Given the description of an element on the screen output the (x, y) to click on. 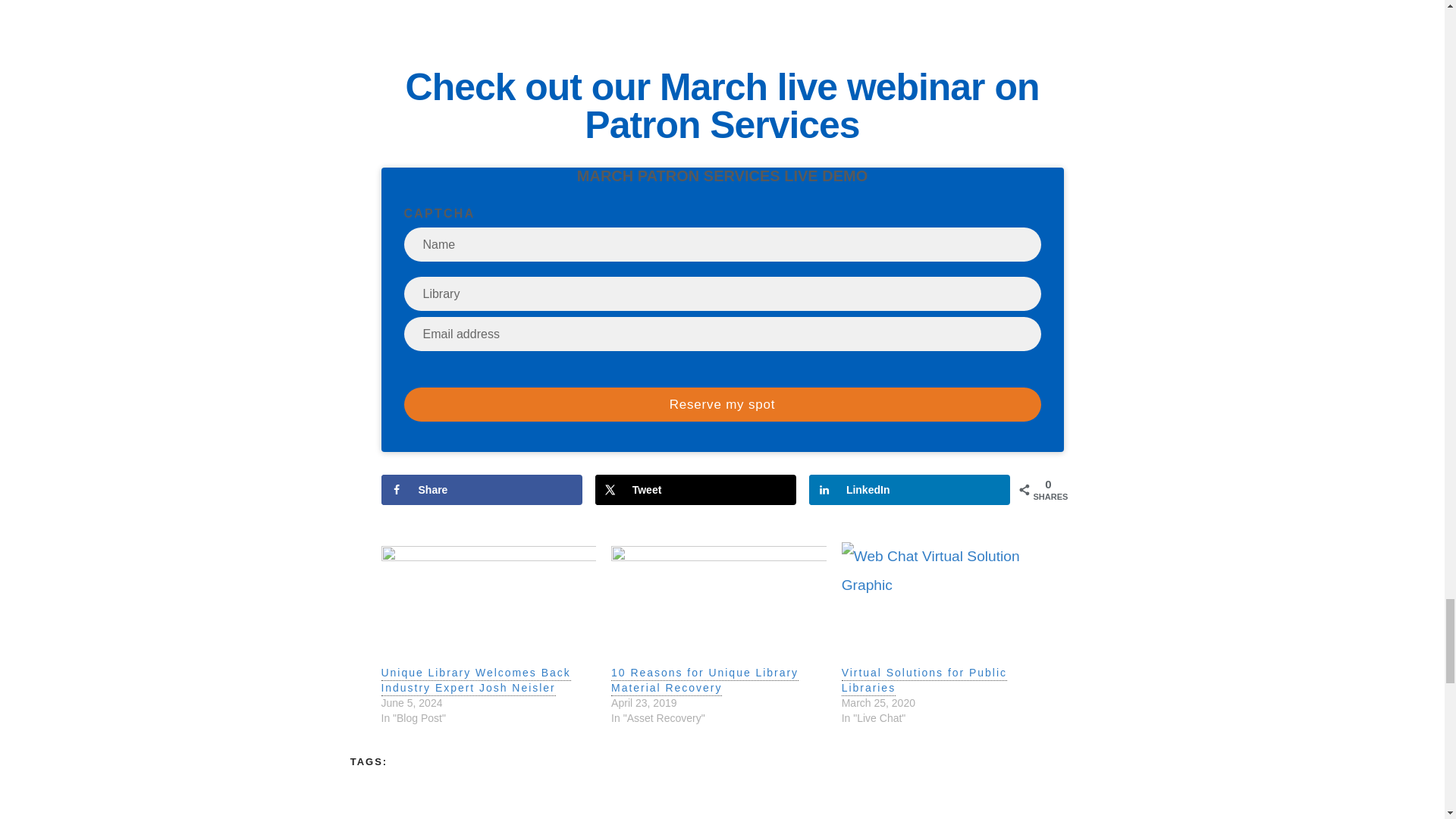
Name (722, 244)
Reserve my spot (722, 404)
Share on LinkedIn (909, 490)
Virtual Solutions for Public Libraries (949, 603)
Unique Library Welcomes Back Industry Expert Josh Neisler (475, 681)
Share (481, 490)
Virtual Solutions for Public Libraries (924, 681)
Share on X (695, 490)
10 Reasons for Unique Library Material Recovery (719, 603)
Unique Library Welcomes Back Industry Expert Josh Neisler (475, 681)
Unique Library Welcomes Back Industry Expert Josh Neisler (487, 603)
Share on Facebook (481, 490)
Library (722, 293)
Tweet (695, 490)
10 Reasons for Unique Library Material Recovery (704, 681)
